Given the description of an element on the screen output the (x, y) to click on. 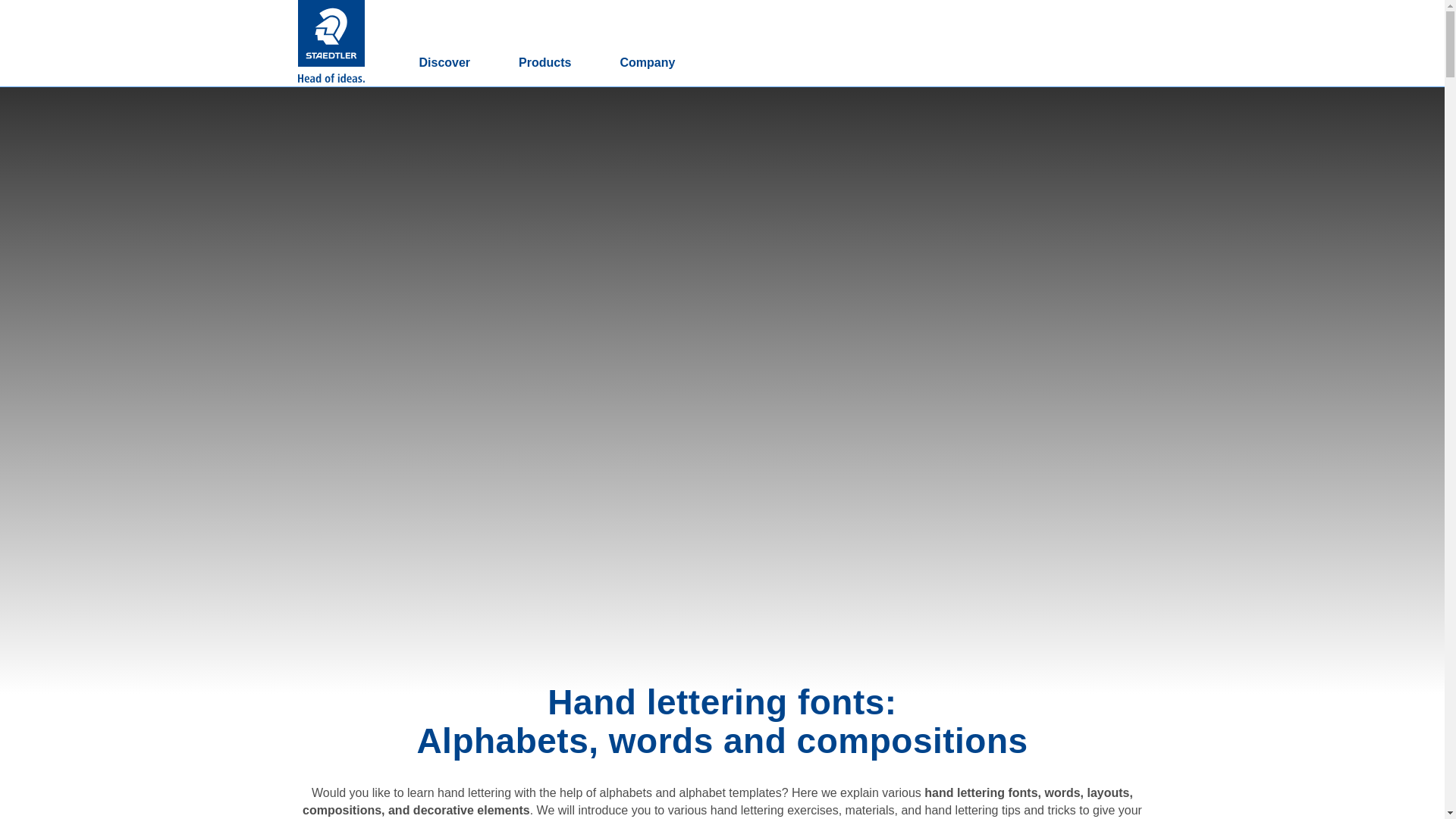
Discover (443, 63)
STAEDTLER (330, 33)
Products (544, 63)
Discover (443, 63)
Products (544, 63)
